Given the description of an element on the screen output the (x, y) to click on. 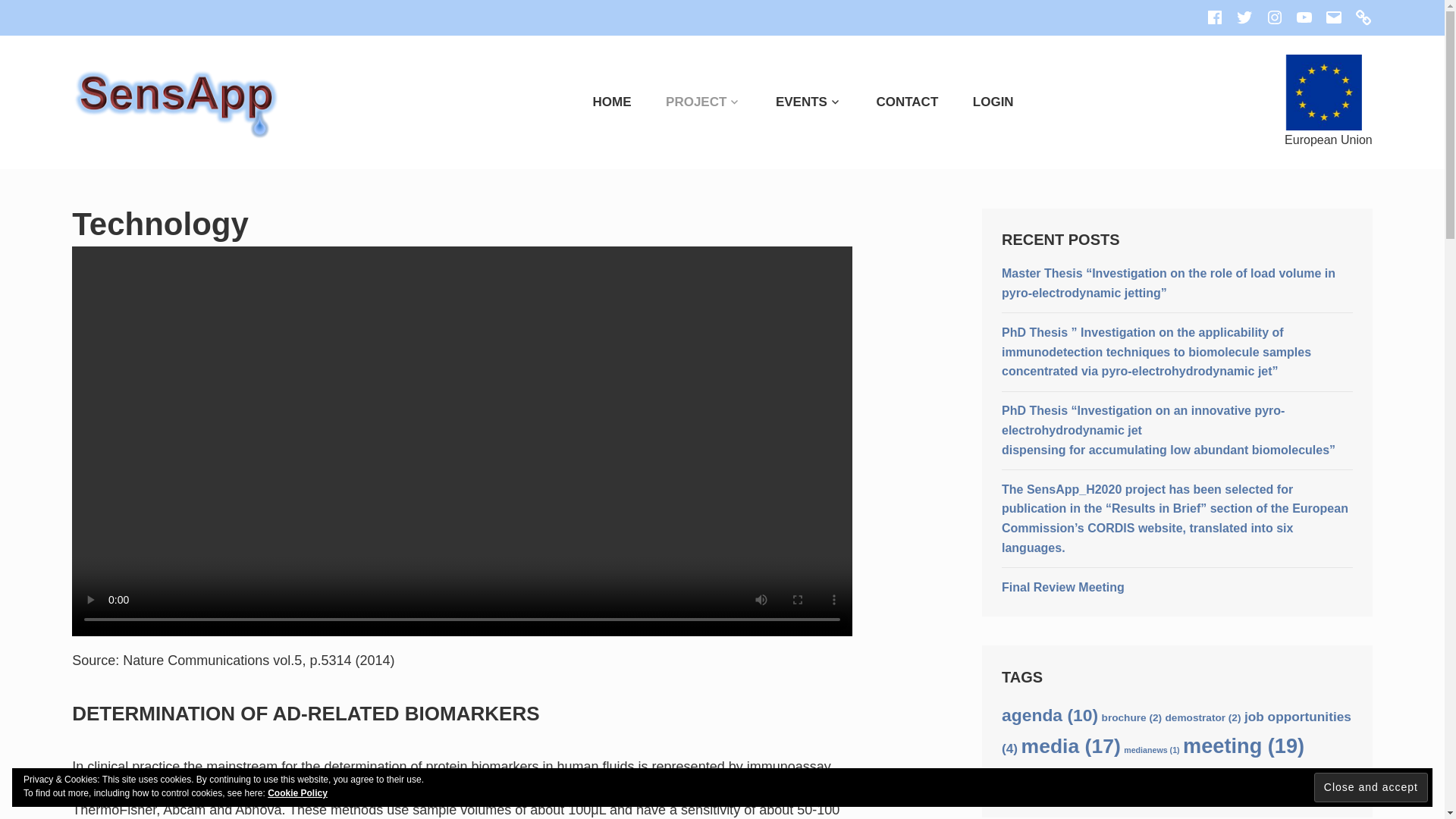
SENSAPP ON ZENODO (1363, 16)
HOME (596, 102)
PROJECT (687, 102)
Close and accept (1371, 787)
EVENTS (792, 102)
TWITTER (1243, 16)
SENSAPP (365, 79)
CONTACT (892, 102)
FACEBOOK (1214, 16)
GMAIL (1333, 16)
